Given the description of an element on the screen output the (x, y) to click on. 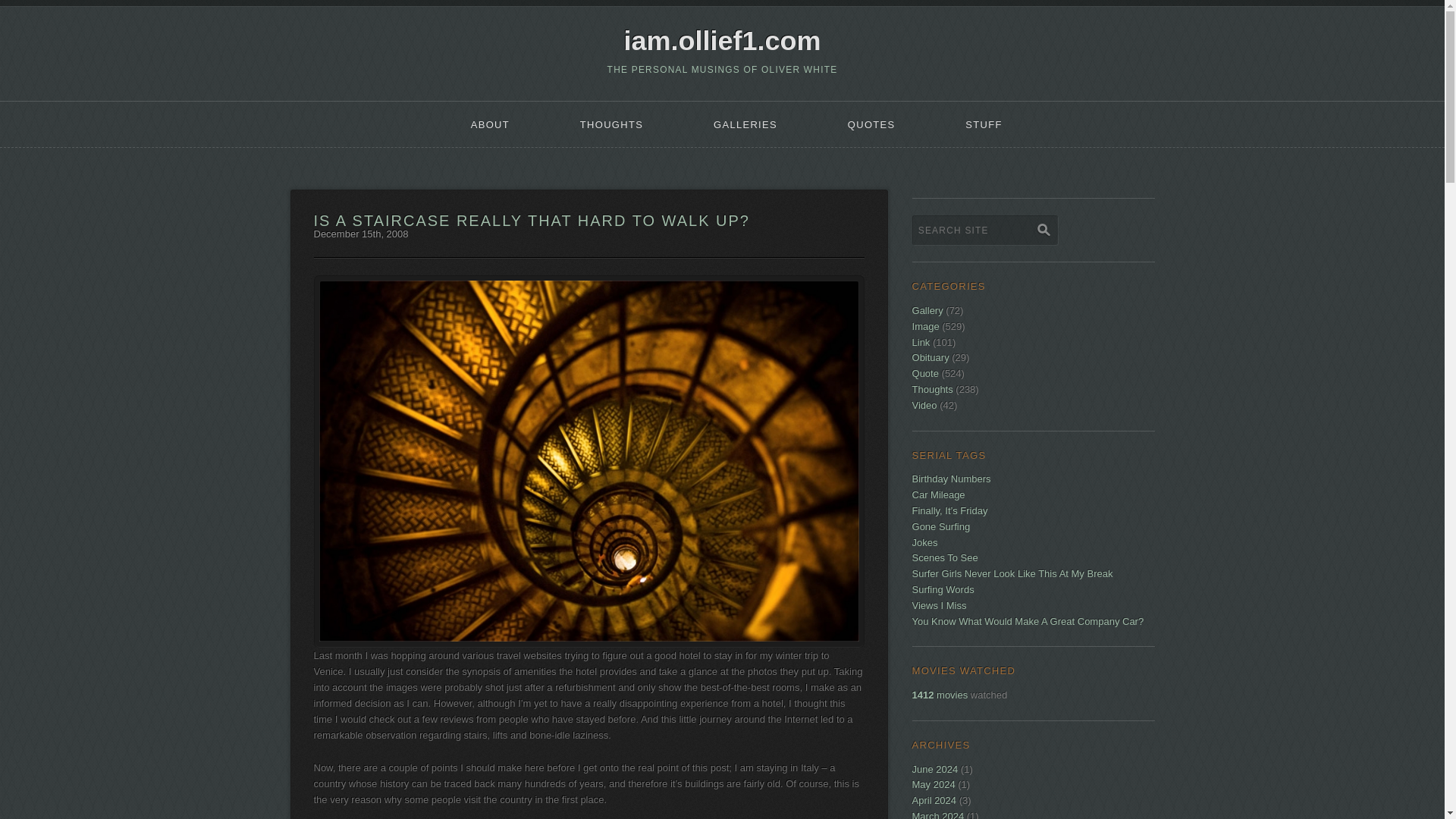
GALLERIES (746, 124)
iam.ollief1.com (722, 40)
ABOUT (489, 124)
Image (925, 326)
Link (921, 342)
Type and press Enter to search (1033, 238)
Search site (985, 229)
STUFF (983, 124)
THOUGHTS (611, 124)
QUOTES (871, 124)
